Given the description of an element on the screen output the (x, y) to click on. 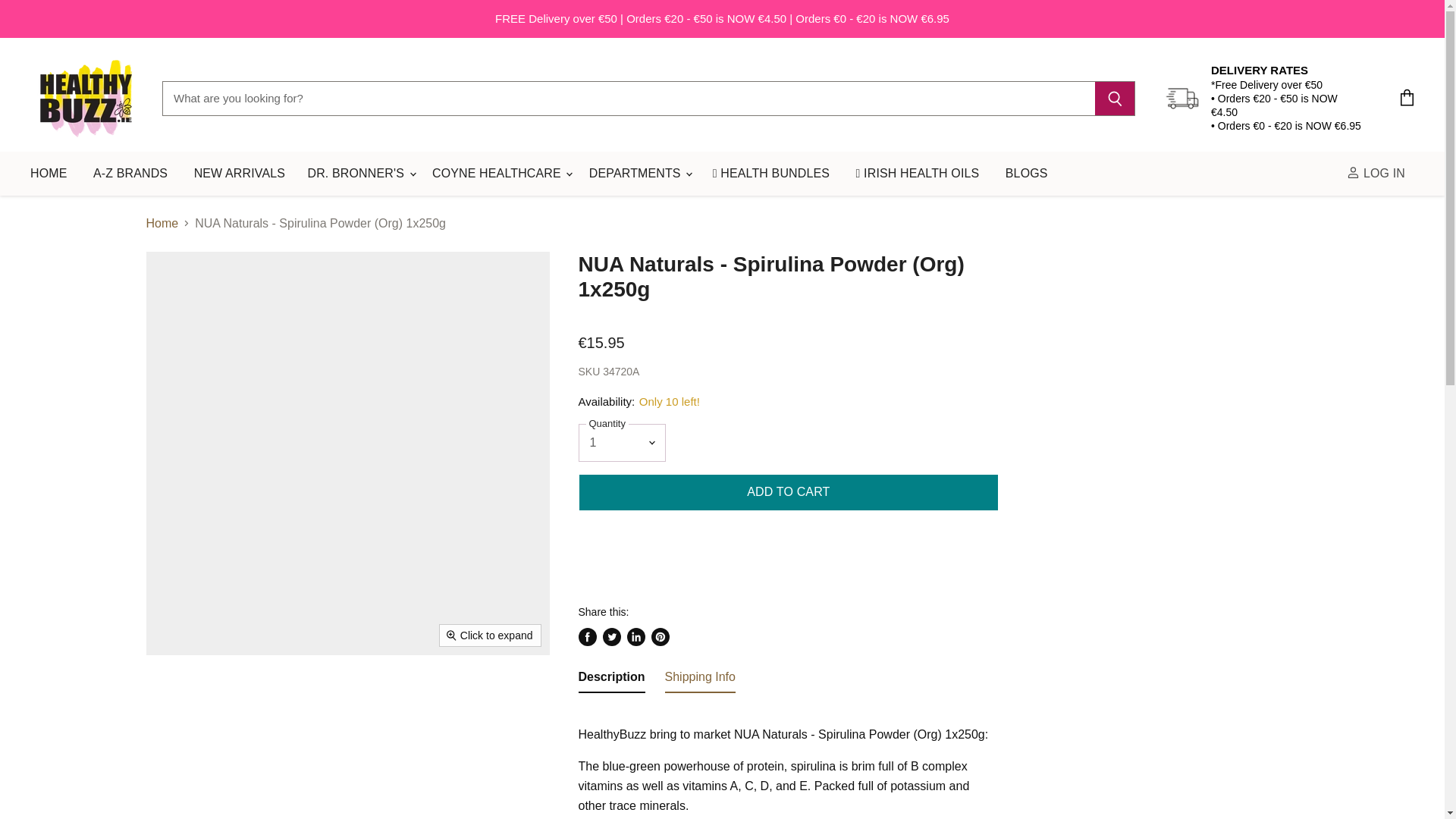
ACCOUNT ICON (1352, 172)
NEW ARRIVALS (240, 173)
DR. BRONNER'S (360, 173)
A-Z BRANDS (130, 173)
HOME (48, 173)
COYNE HEALTHCARE (501, 173)
